Given the description of an element on the screen output the (x, y) to click on. 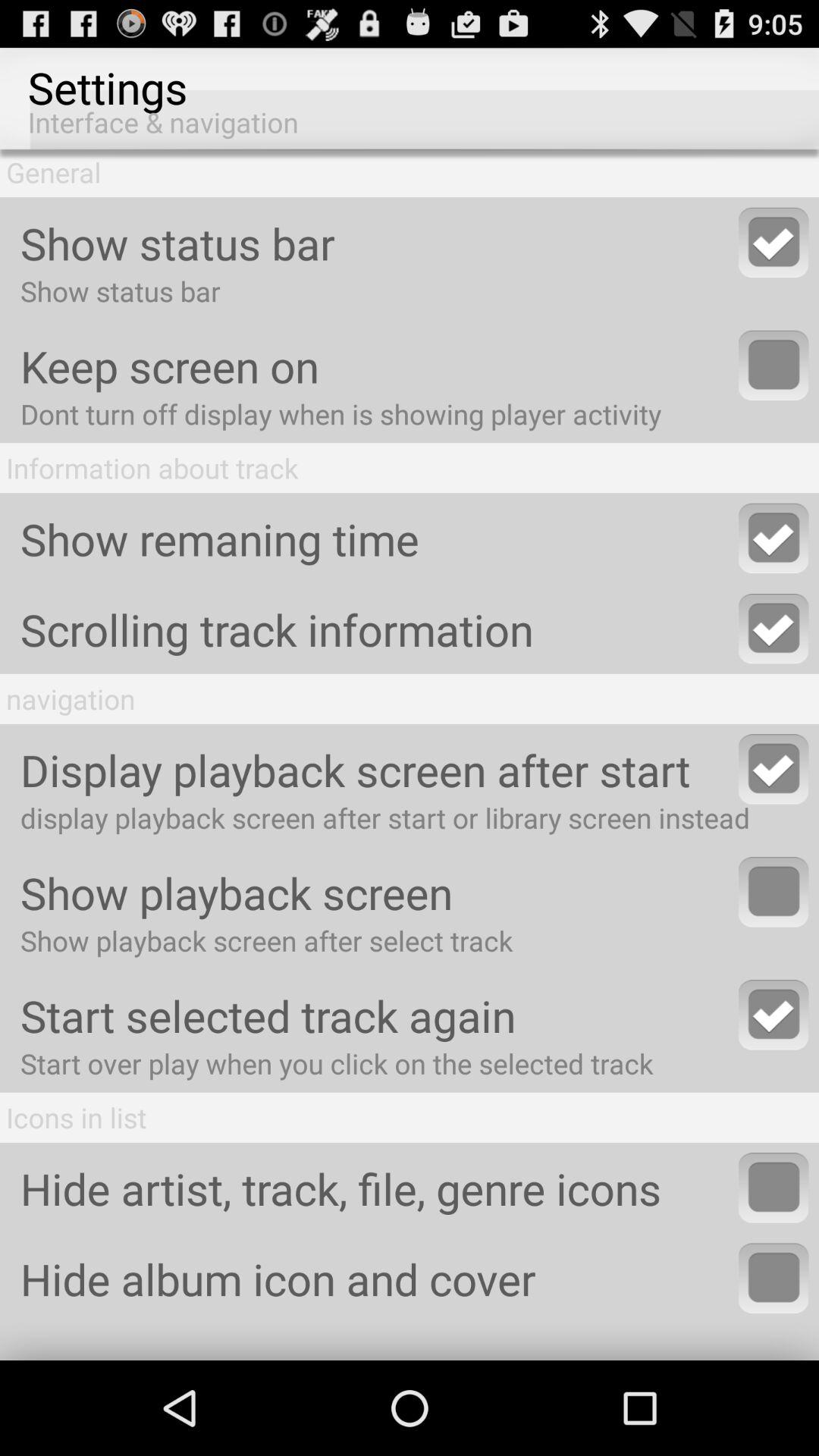
hide artist info (773, 1187)
